Given the description of an element on the screen output the (x, y) to click on. 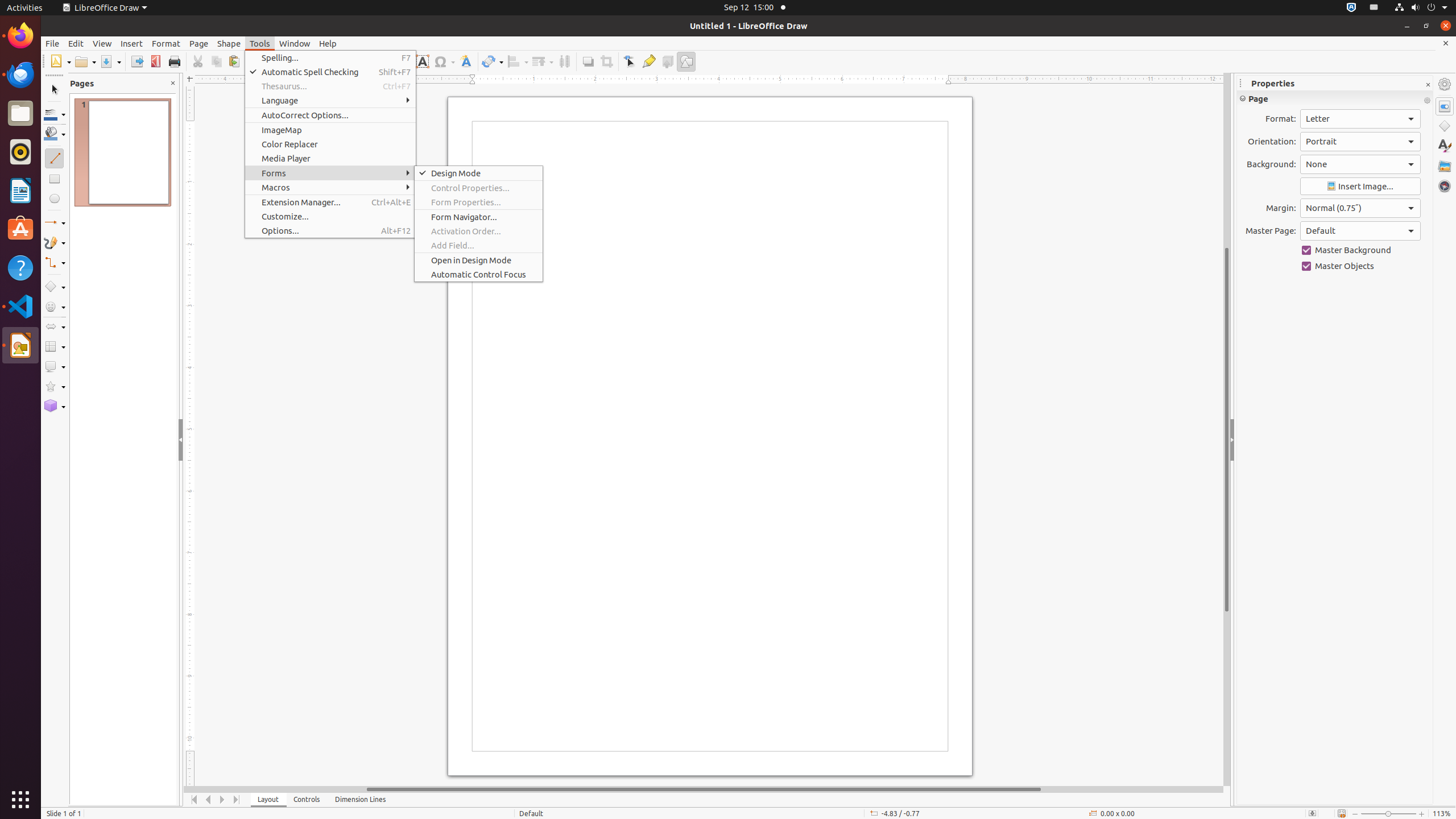
Form Properties... Element type: menu-item (478, 202)
Format Element type: menu (165, 43)
Orientation: Element type: combo-box (1360, 141)
Move Left Element type: push-button (208, 799)
Automatic Control Focus Element type: check-menu-item (478, 274)
